Given the description of an element on the screen output the (x, y) to click on. 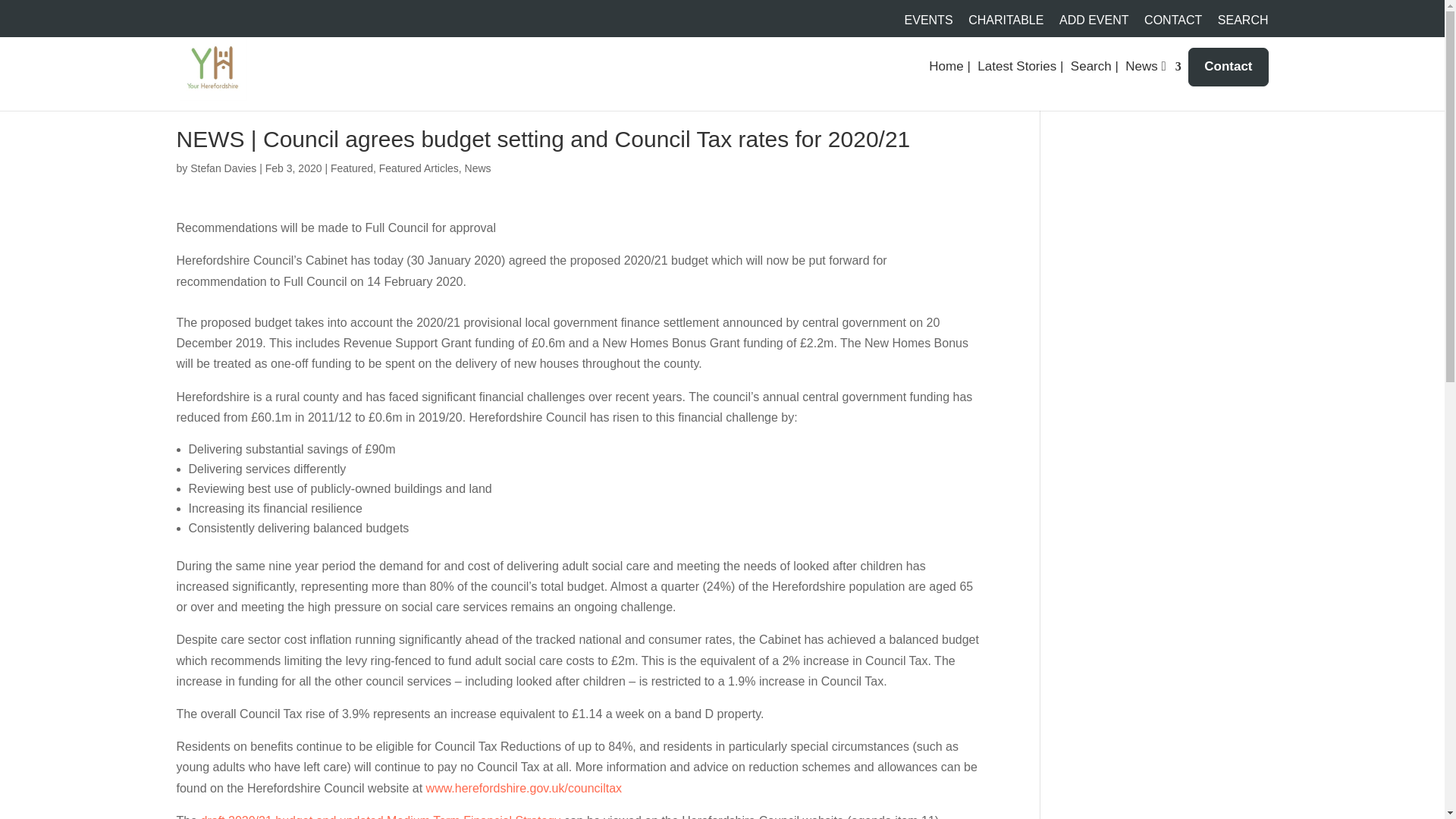
Stefan Davies (223, 168)
CONTACT (1173, 24)
Contact (1228, 66)
Featured (351, 168)
ADD EVENT (1094, 24)
CHARITABLE (1005, 24)
Featured Articles (418, 168)
News (478, 168)
SEARCH (1242, 24)
Posts by Stefan Davies (223, 168)
EVENTS (928, 24)
